Given the description of an element on the screen output the (x, y) to click on. 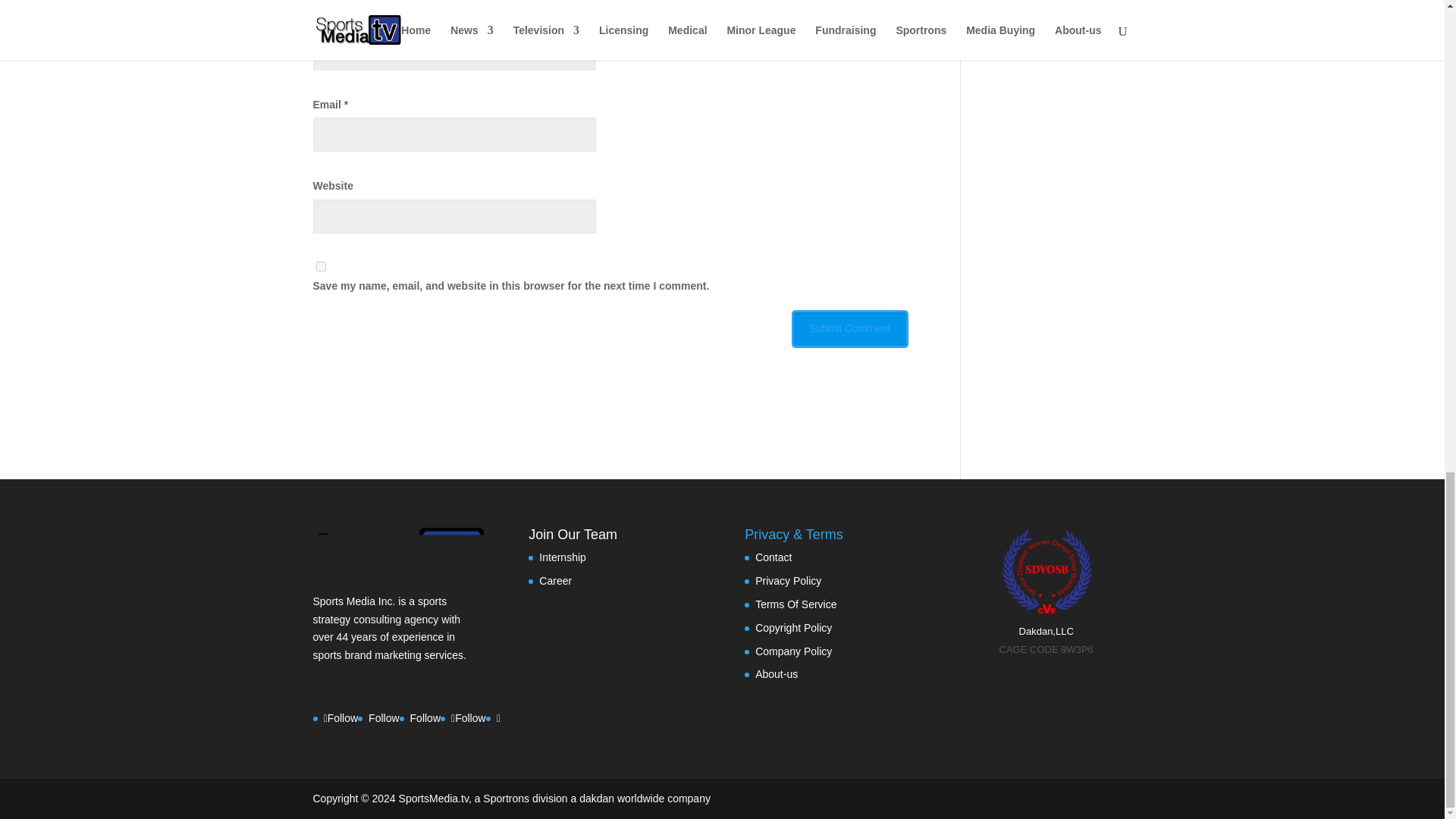
Follow on Instagram (383, 717)
Follow on Twitter (340, 717)
Submit Comment (850, 329)
Follow on Twitter (425, 717)
Submit Comment (850, 329)
Follow on Instagram (468, 717)
yes (319, 266)
